Given the description of an element on the screen output the (x, y) to click on. 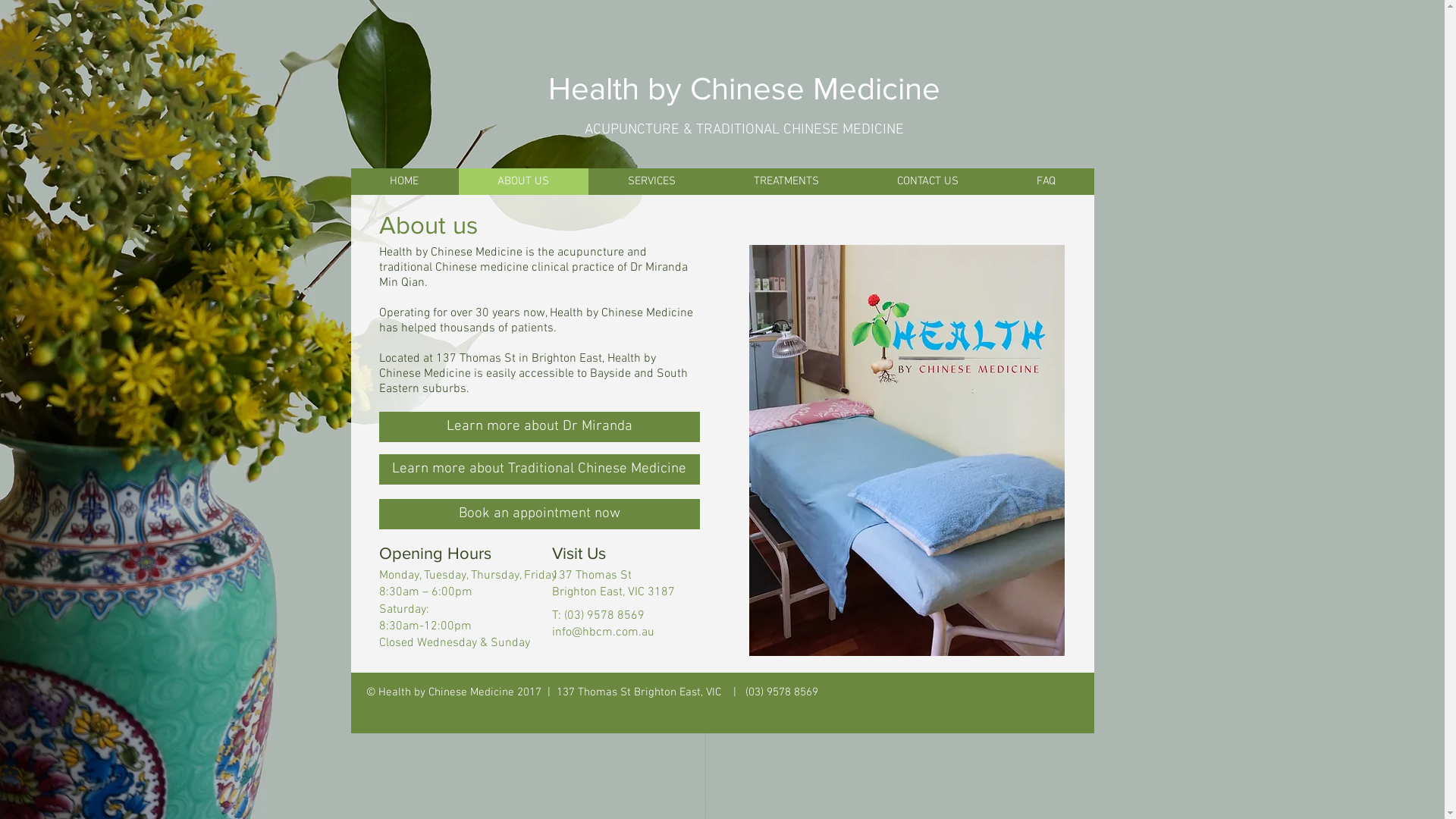
ABOUT US Element type: text (523, 181)
SERVICES Element type: text (651, 181)
Learn more about Dr Miranda Element type: text (539, 426)
HOME Element type: text (403, 181)
TREATMENTS Element type: text (785, 181)
info@hbcm.com.au Element type: text (603, 632)
FAQ Element type: text (1044, 181)
Learn more about Traditional Chinese Medicine Element type: text (539, 469)
Book an appointment now Element type: text (539, 513)
CONTACT US Element type: text (926, 181)
